Given the description of an element on the screen output the (x, y) to click on. 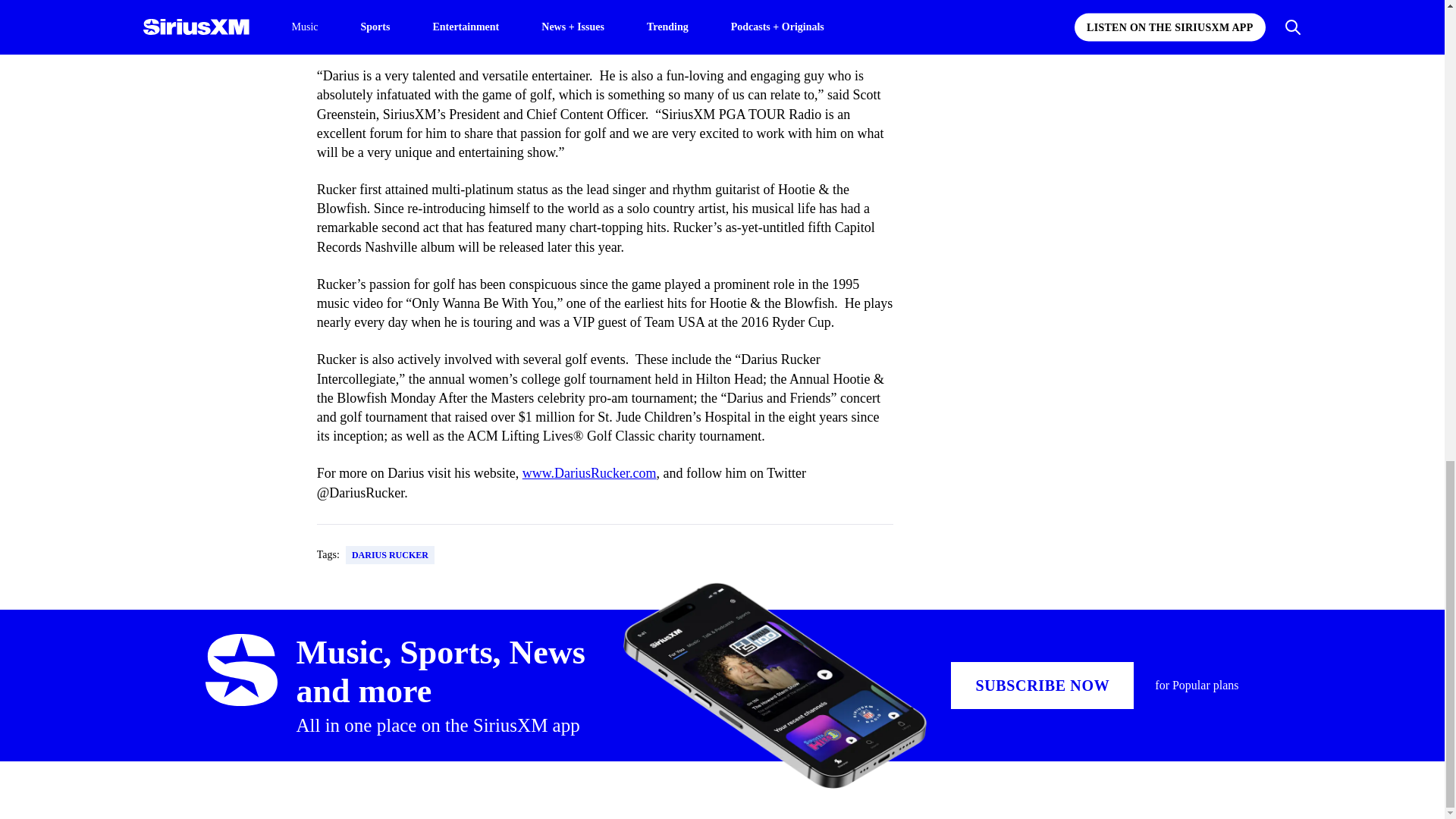
DARIUS RUCKER (389, 555)
www.DariusRucker.com (589, 473)
SUBSCRIBE NOW (1042, 685)
